Given the description of an element on the screen output the (x, y) to click on. 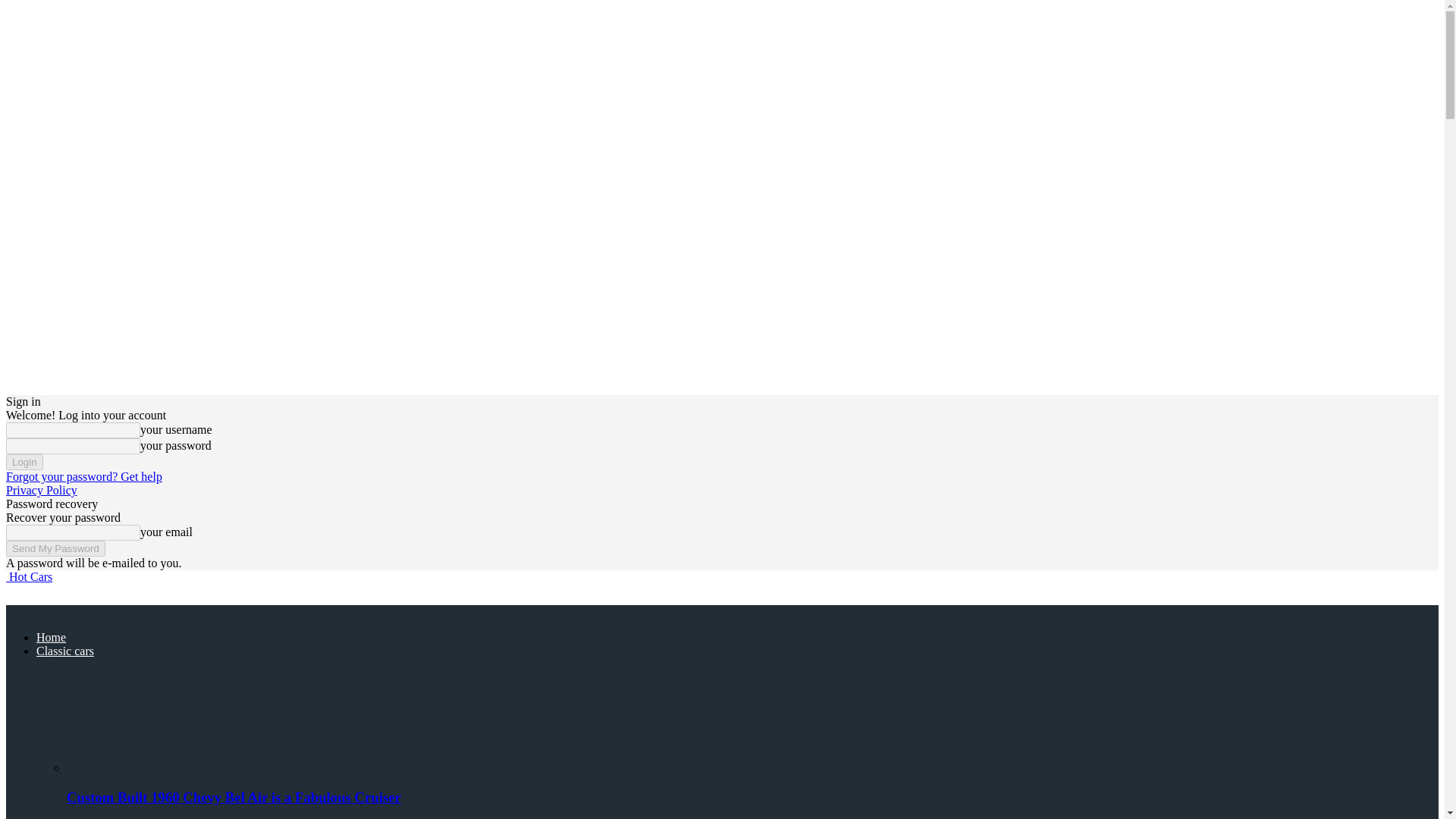
Login (24, 462)
Forgot your password? Get help (83, 476)
Privacy Policy (41, 490)
Custom Built 1960 Chevy Bel Air is a Fabulous Cruiser (233, 797)
Send My Password (54, 548)
Custom Built 1960 Chevy Bel Air is a Fabulous Cruiser (148, 715)
Classic cars (65, 650)
Custom Built 1960 Chevy Bel Air is a Fabulous Cruiser (148, 767)
Hot Cars (28, 576)
Home (50, 636)
